Given the description of an element on the screen output the (x, y) to click on. 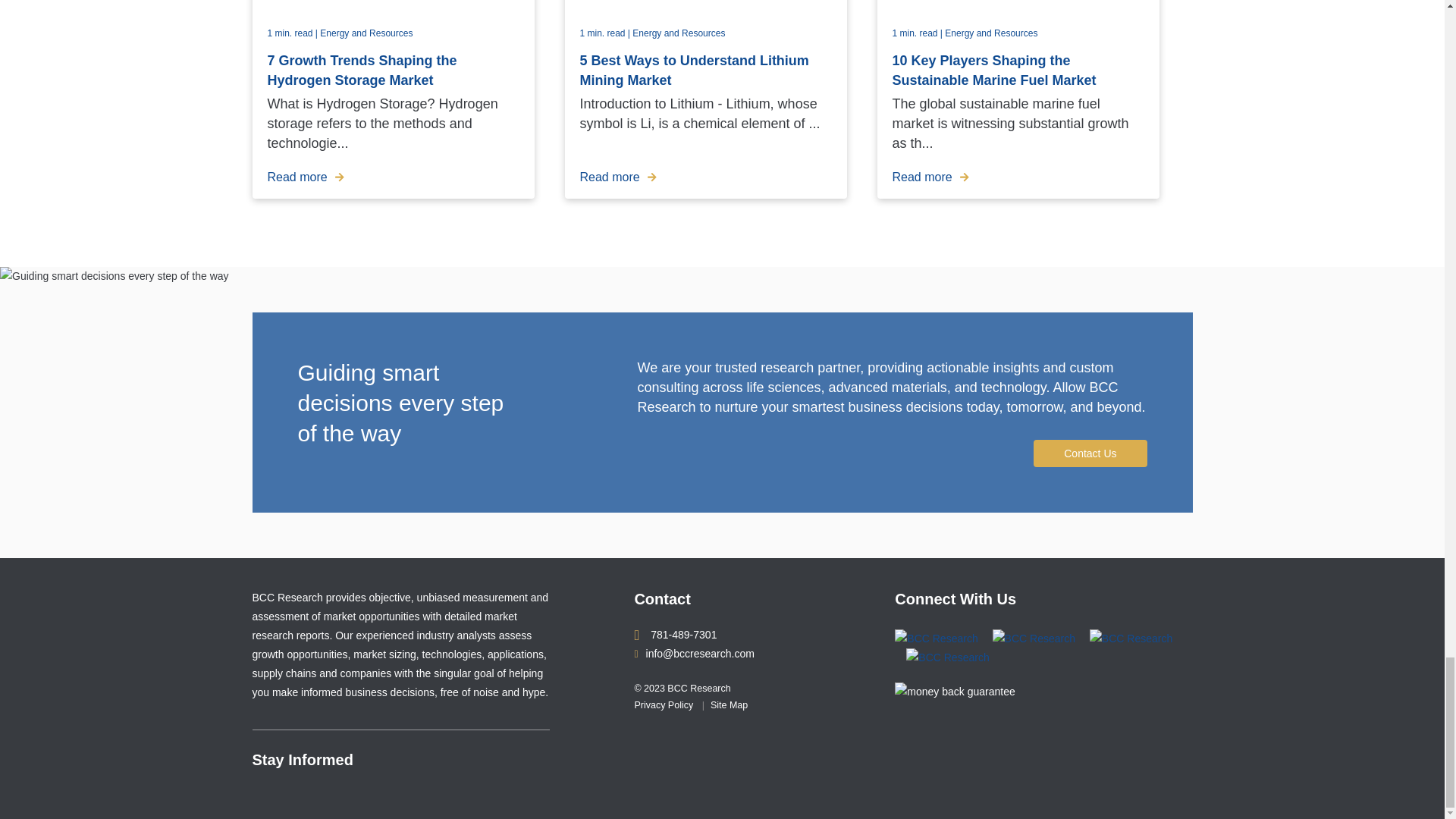
Linkedin (937, 638)
Twitter (1130, 638)
privacy policy (663, 705)
Twitter (947, 657)
Site Map (729, 705)
